Given the description of an element on the screen output the (x, y) to click on. 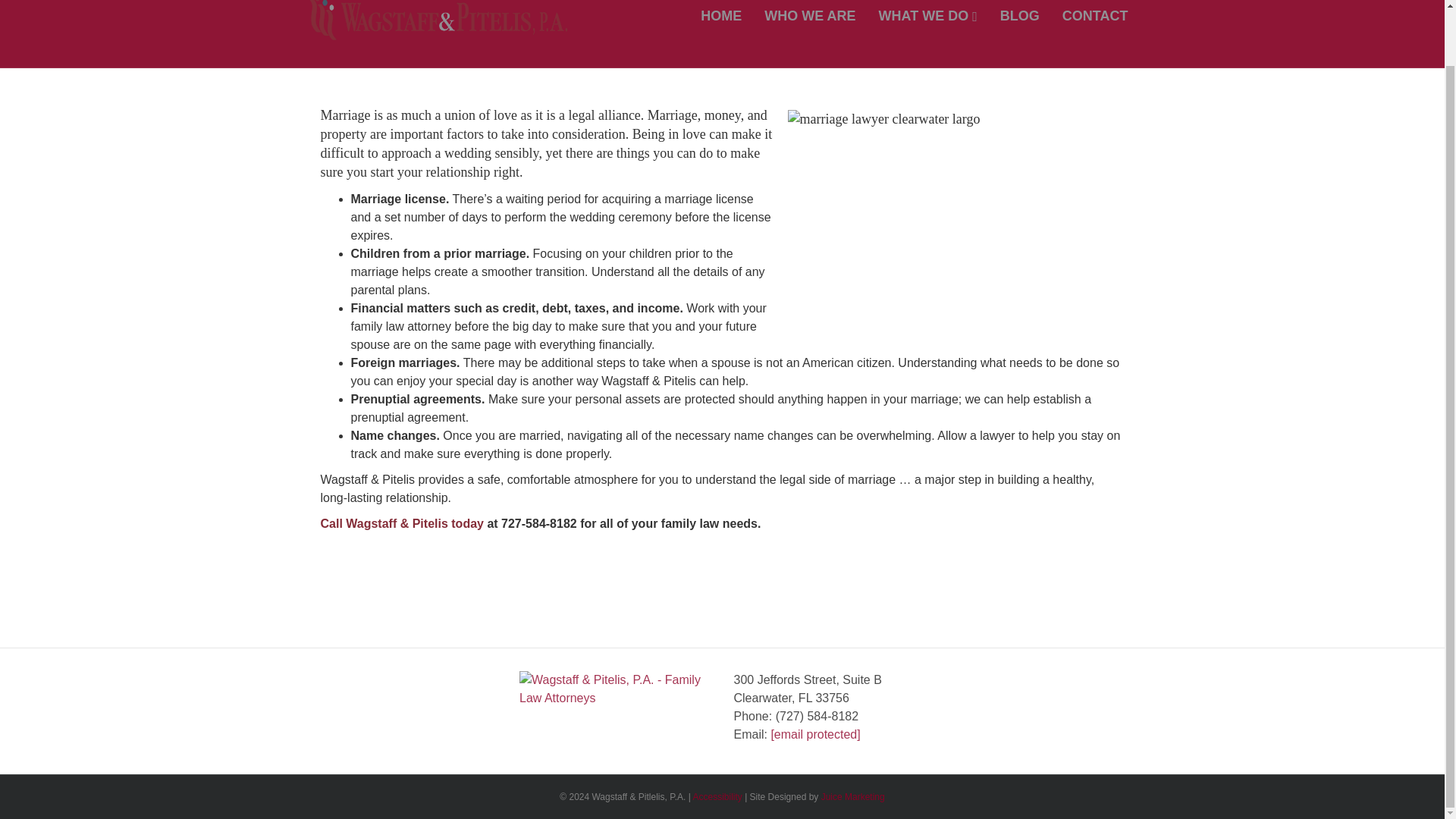
CONTACT (1095, 18)
Accessibility (717, 796)
WHO WE ARE (809, 18)
BLOG (1019, 18)
HOME (720, 18)
WHAT WE DO (927, 18)
Juice Marketing (853, 796)
